Given the description of an element on the screen output the (x, y) to click on. 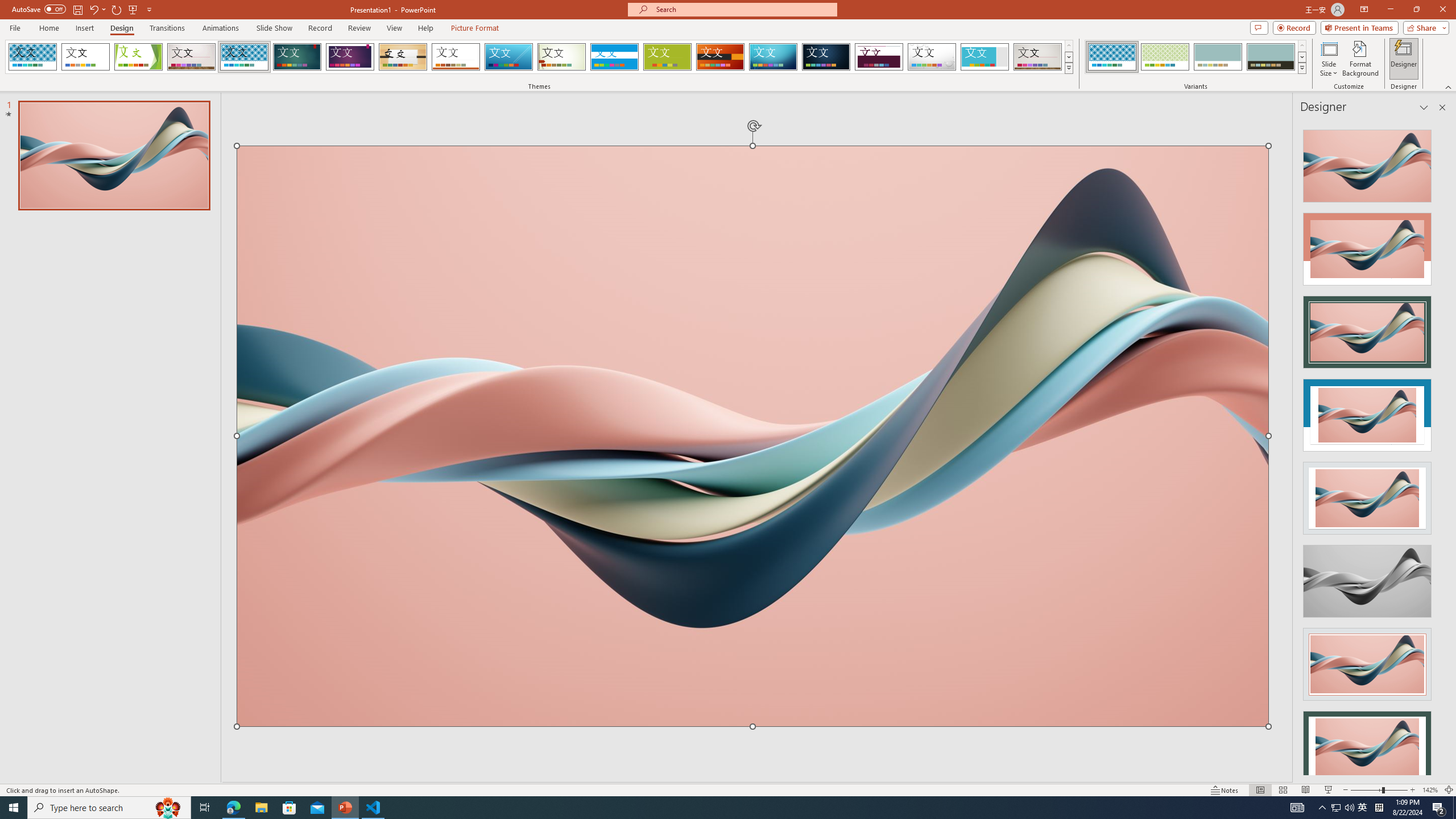
Integral Variant 4 (1270, 56)
Circuit (772, 56)
Integral Variant 2 (1164, 56)
Frame (984, 56)
Integral Variant 1 (1112, 56)
